Given the description of an element on the screen output the (x, y) to click on. 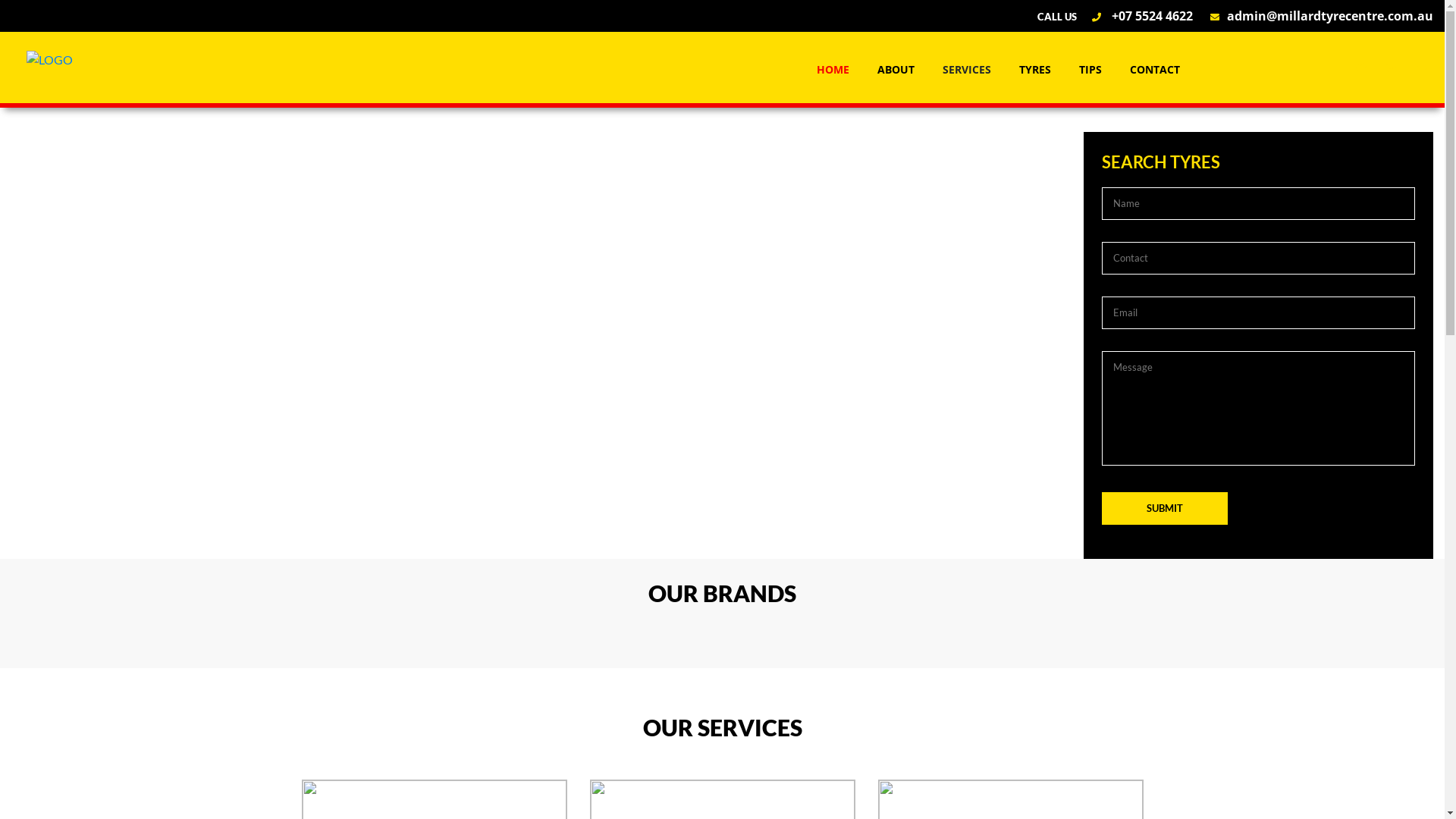
admin@millardtyrecentre.com.au Element type: text (1314, 15)
CONTACT Element type: text (1154, 69)
HOME Element type: text (832, 69)
TIPS Element type: text (1090, 69)
SERVICES Element type: text (966, 69)
Submit Element type: text (1164, 508)
ABOUT Element type: text (895, 69)
+07 5524 4622 Element type: text (1134, 15)
TYRES Element type: text (1034, 69)
